Given the description of an element on the screen output the (x, y) to click on. 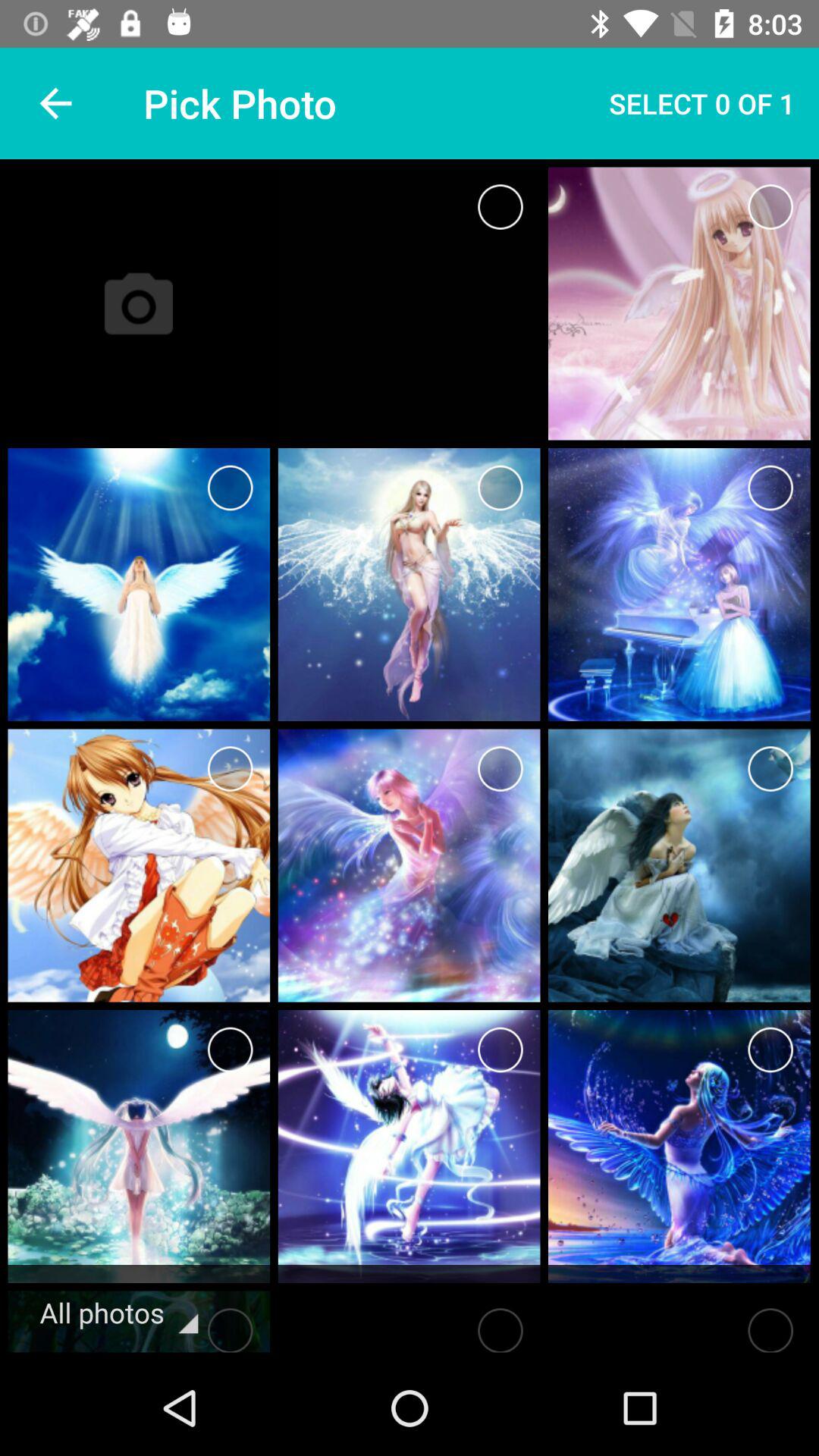
turn on item next to pick photo icon (55, 103)
